Given the description of an element on the screen output the (x, y) to click on. 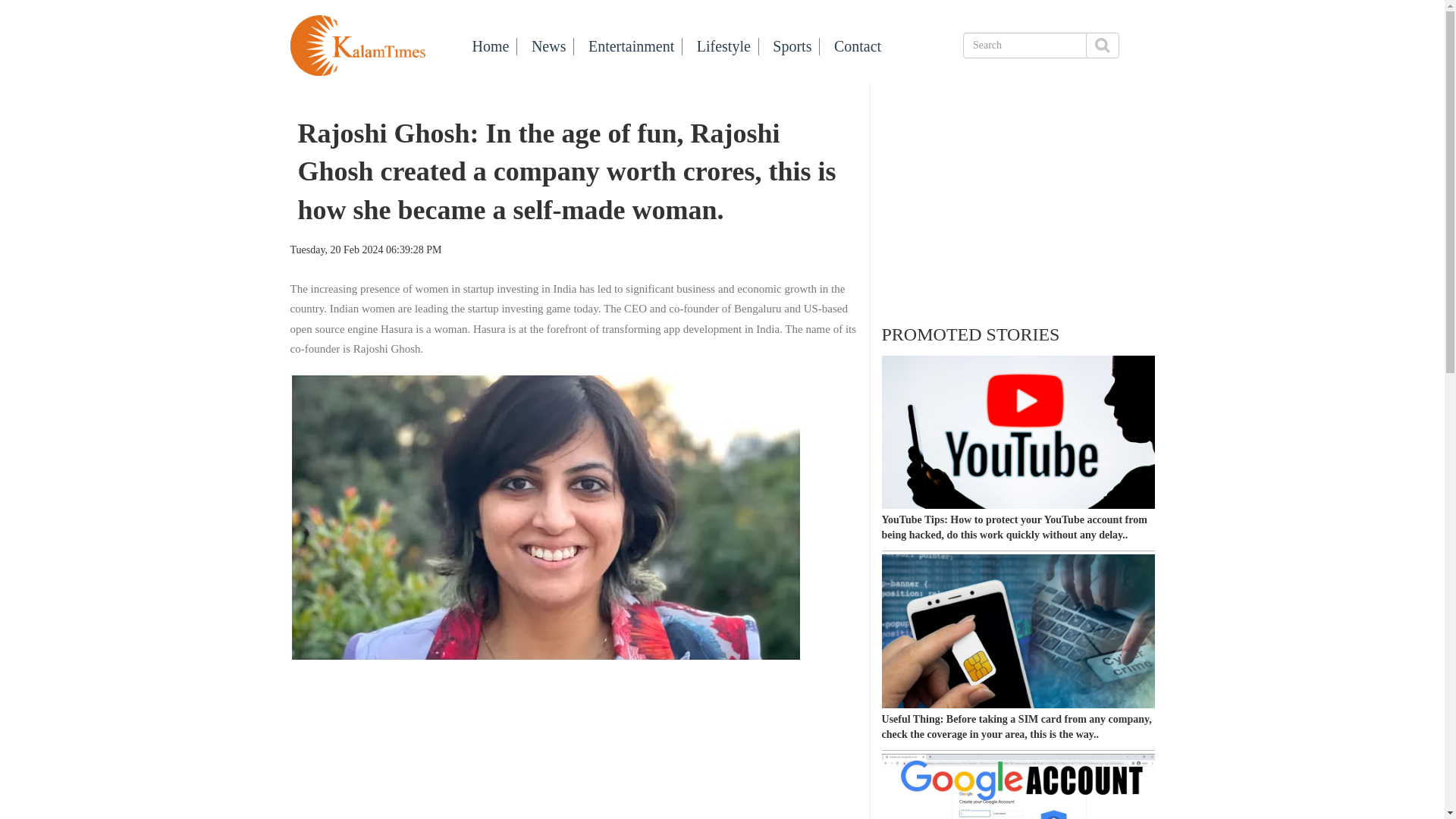
Entertainment (631, 45)
Lifestyle (724, 45)
News (548, 45)
Home (489, 45)
Sports (791, 45)
Entertainment (631, 45)
Lifestyle (724, 45)
Contact (857, 45)
Lifestyle (857, 45)
Cricket (791, 45)
Advertisement (1018, 201)
Storypedia (357, 44)
News (548, 45)
